Given the description of an element on the screen output the (x, y) to click on. 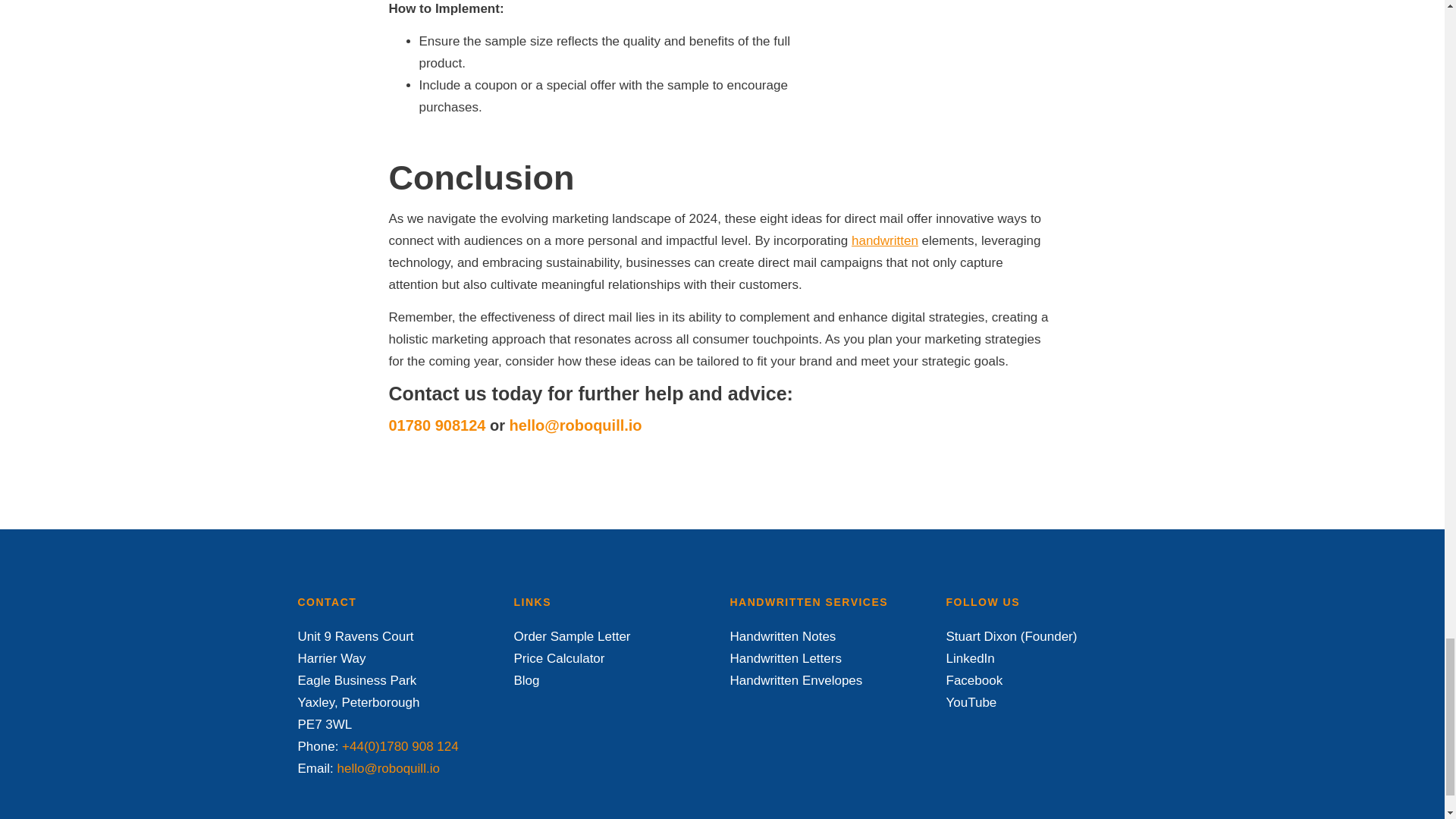
Order Sample Letter (571, 636)
Blog (526, 680)
Price Calculator (559, 658)
handwritten (884, 240)
Handwritten Notes (782, 636)
01780 908124 (436, 425)
Handwritten Letters (785, 658)
Handwritten Envelopes (795, 680)
